Given the description of an element on the screen output the (x, y) to click on. 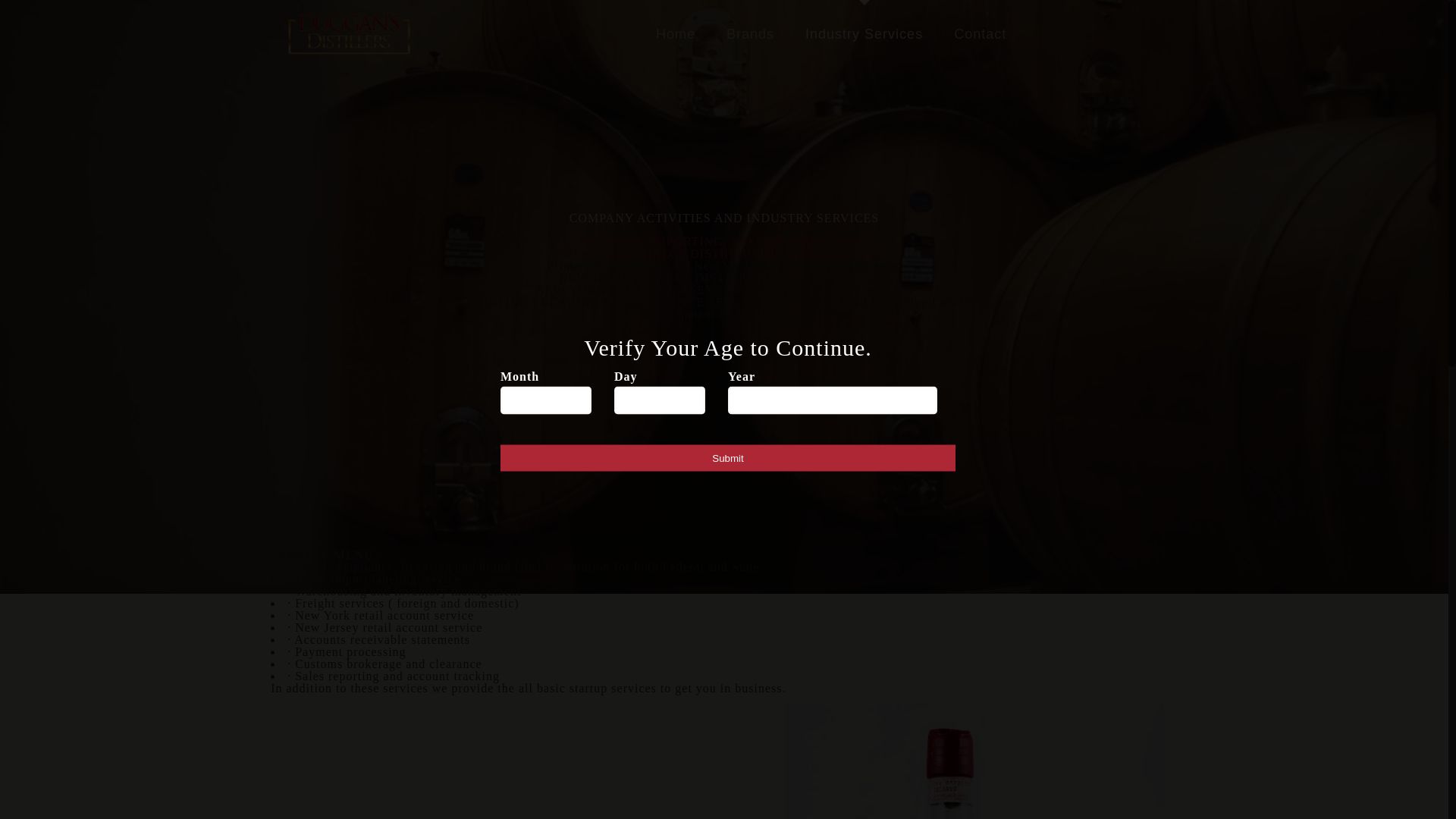
Duggans Distillers (349, 33)
day (659, 400)
Industry Services (864, 33)
Submit (727, 457)
Contact (980, 33)
Home (675, 33)
Submit (727, 457)
NEW YORK DIRECT DISTRIBUTION to retail accounts (724, 253)
Brands (750, 33)
month (545, 400)
year (832, 400)
